Given the description of an element on the screen output the (x, y) to click on. 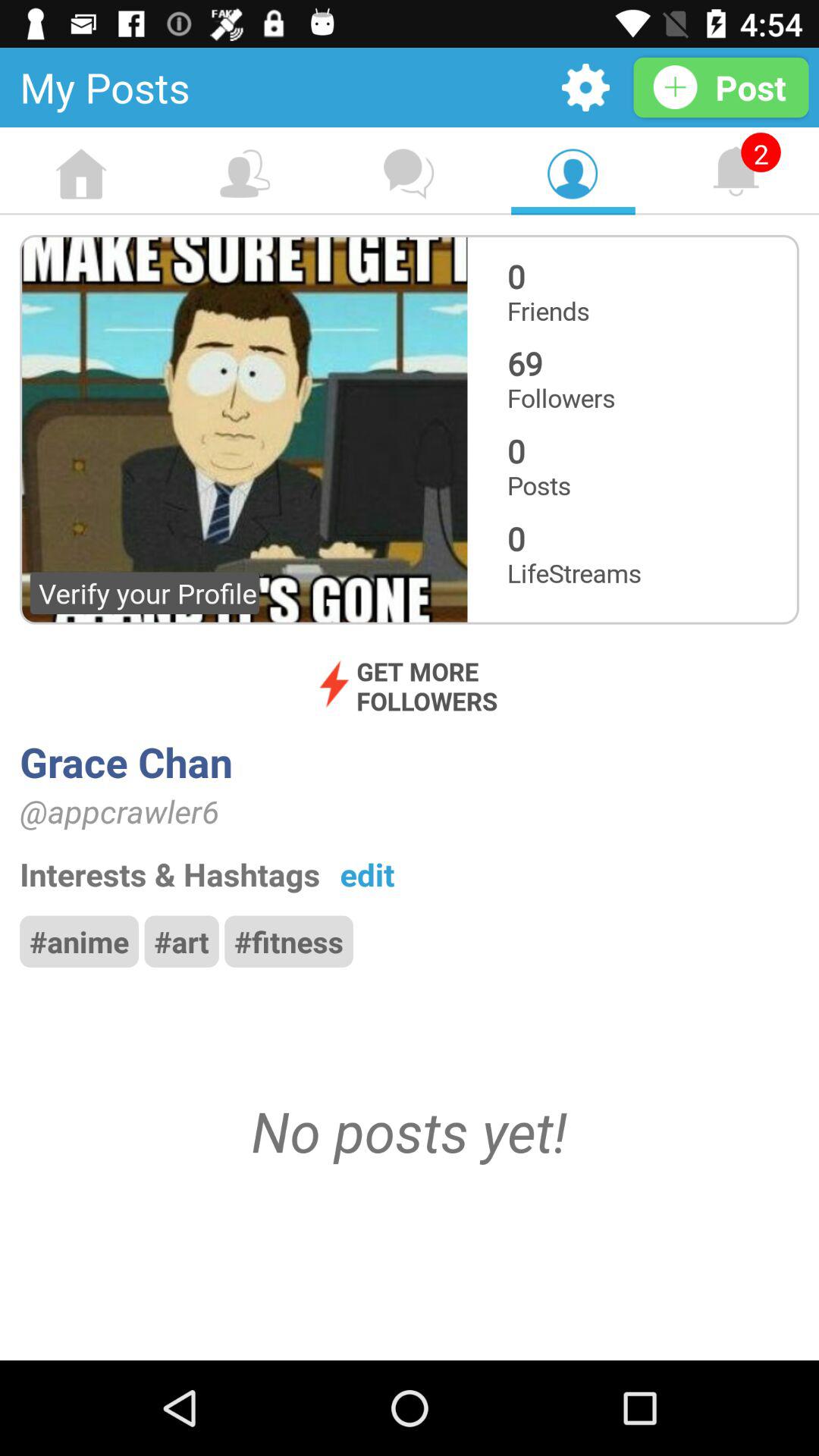
tap item above the #fitness (367, 873)
